Given the description of an element on the screen output the (x, y) to click on. 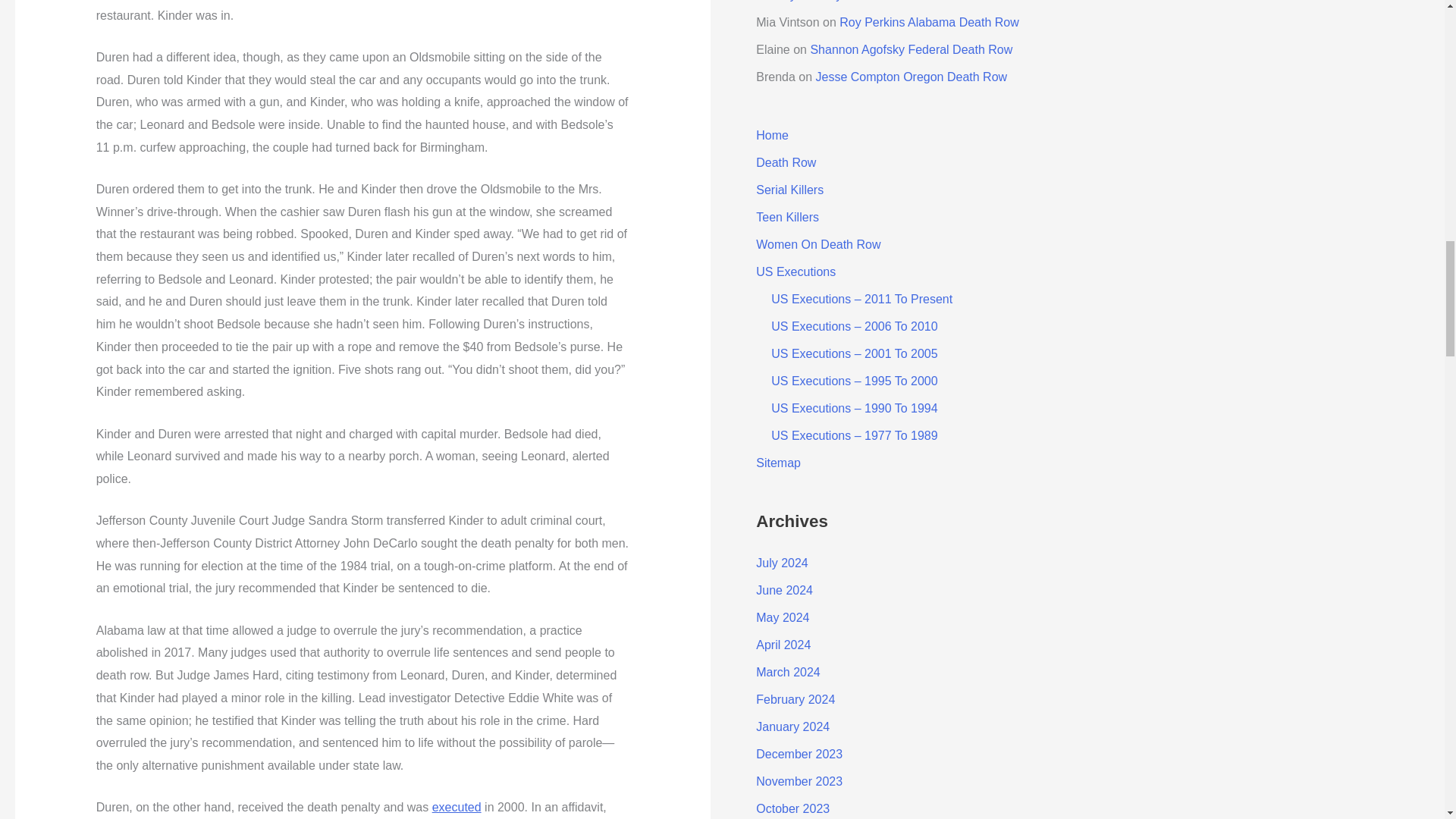
US Executions - 2011 To Present (456, 807)
